Given the description of an element on the screen output the (x, y) to click on. 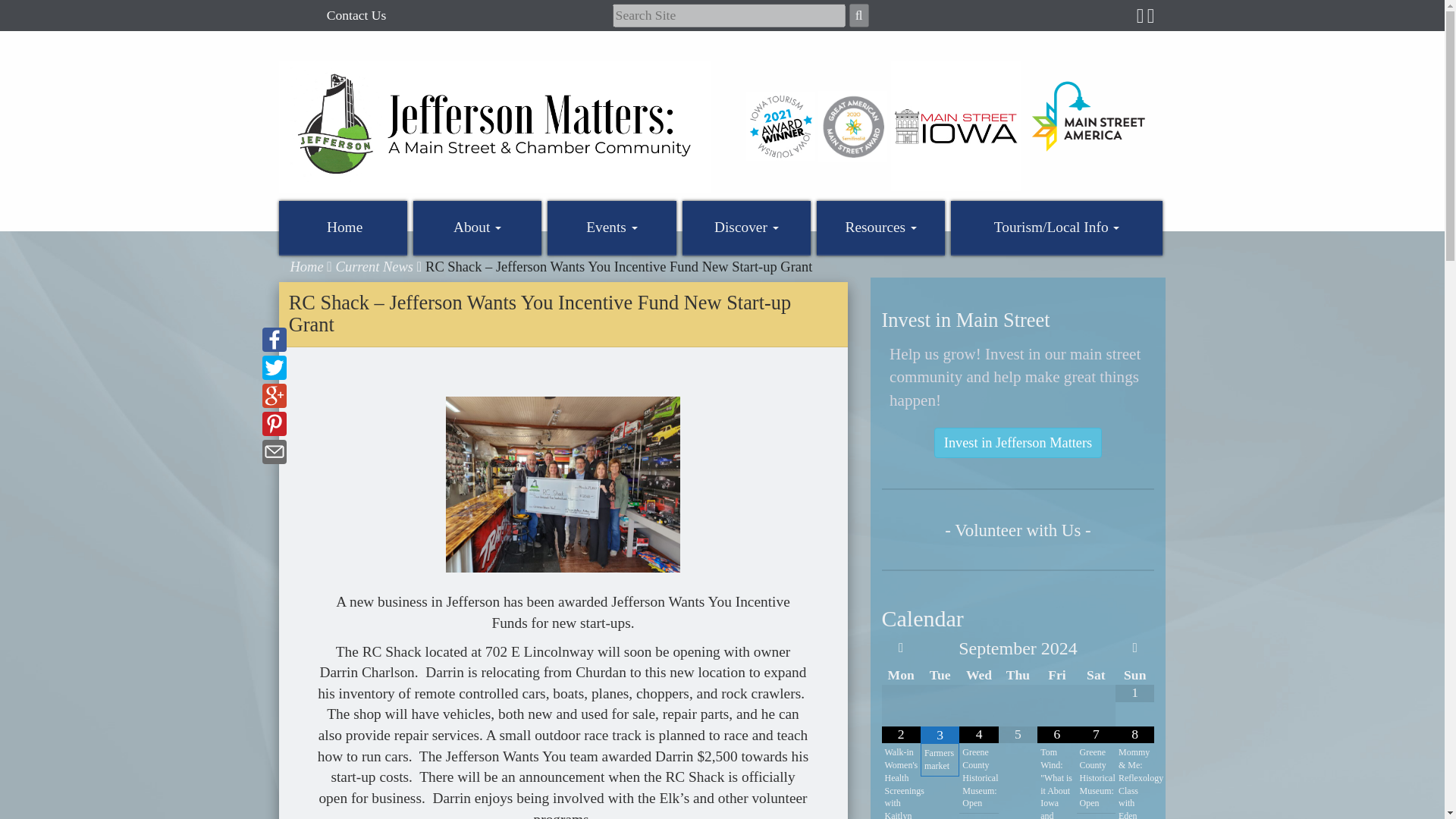
About (477, 227)
 Home (343, 227)
Events (611, 227)
Home (343, 227)
Click here to contact us! (356, 14)
Go Home (495, 125)
Contact Us (356, 14)
About (477, 227)
